Given the description of an element on the screen output the (x, y) to click on. 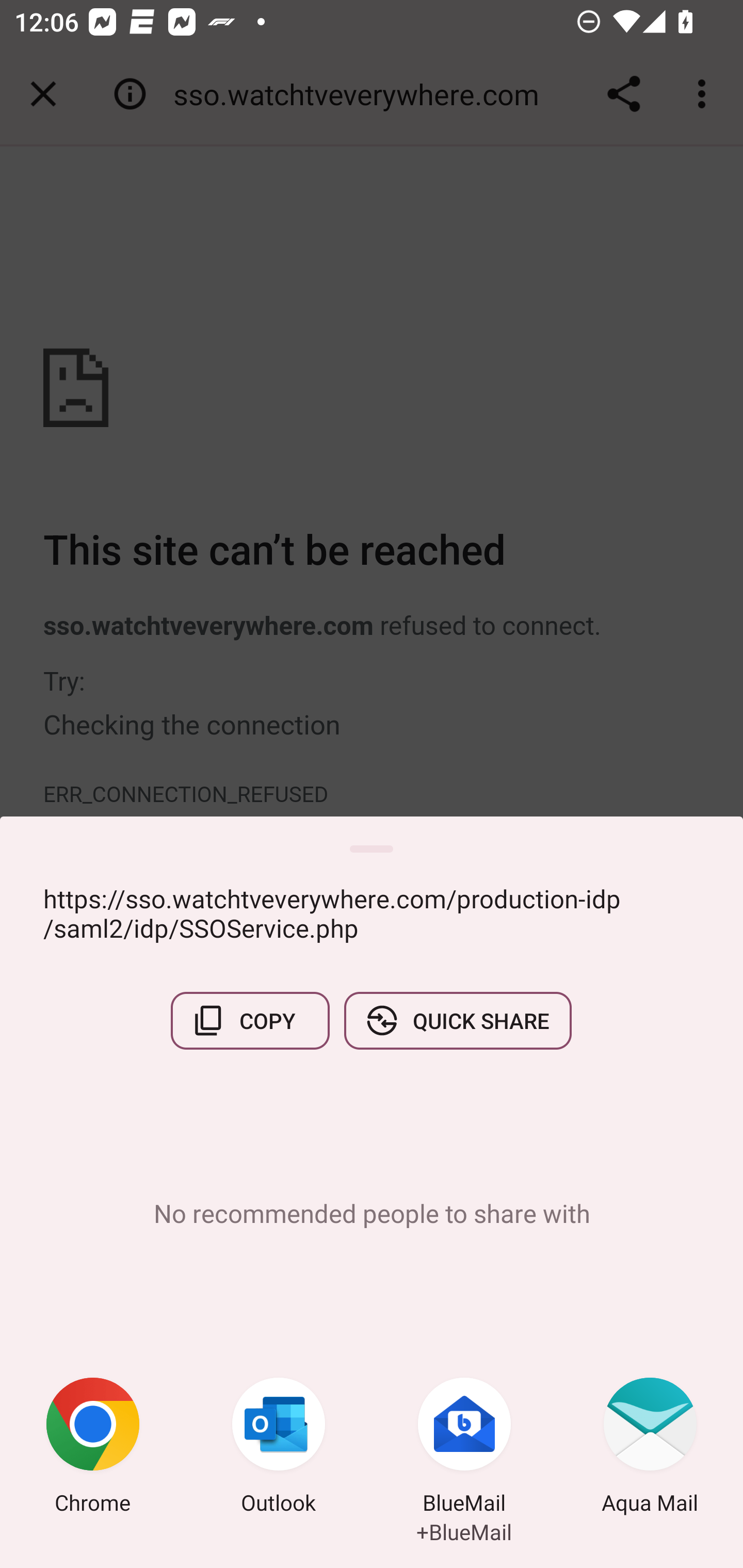
COPY (249, 1020)
QUICK SHARE (457, 1020)
Chrome (92, 1448)
Outlook (278, 1448)
BlueMail +BlueMail (464, 1448)
Aqua Mail (650, 1448)
